Given the description of an element on the screen output the (x, y) to click on. 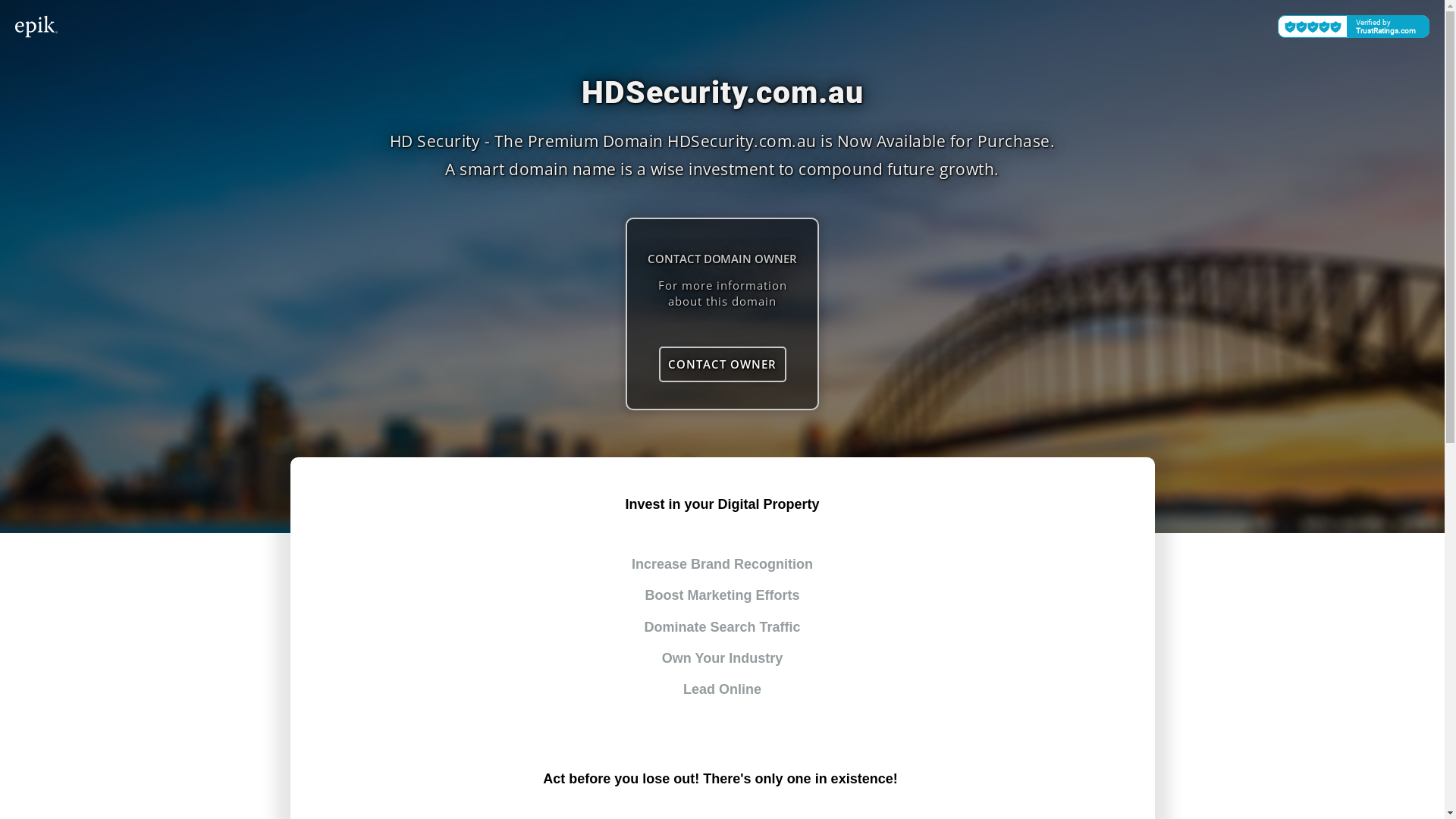
CONTACT OWNER Element type: text (721, 364)
Verified by TrustRatings.com Element type: hover (1353, 26)
